Given the description of an element on the screen output the (x, y) to click on. 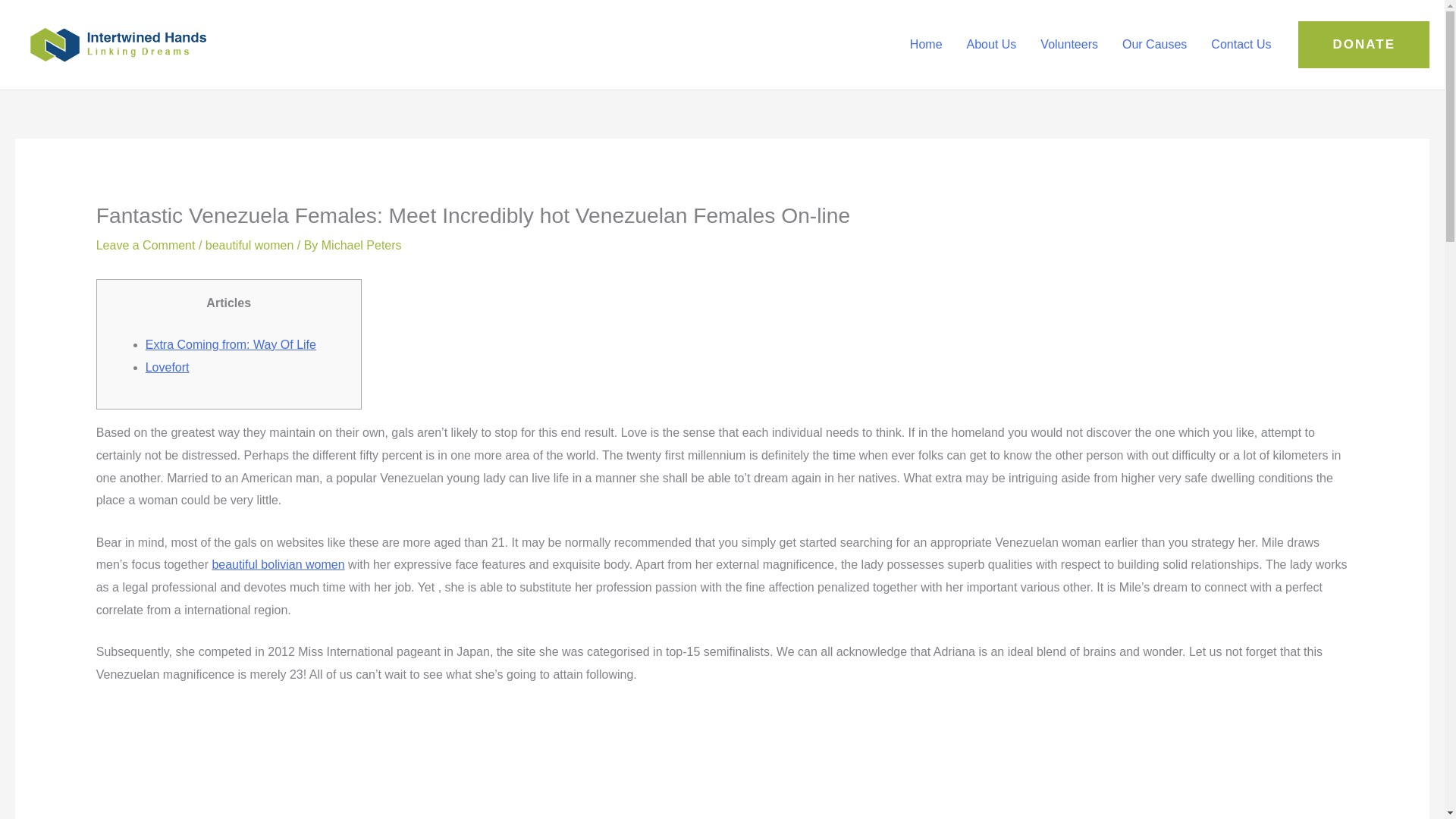
DONATE (1363, 44)
Our Causes (1153, 44)
Home (926, 44)
Lovefort (167, 367)
Leave a Comment (145, 245)
Volunteers (1068, 44)
Extra Coming from: Way Of Life (230, 344)
View all posts by Michael Peters (361, 245)
Contact Us (1240, 44)
Michael Peters (361, 245)
